Given the description of an element on the screen output the (x, y) to click on. 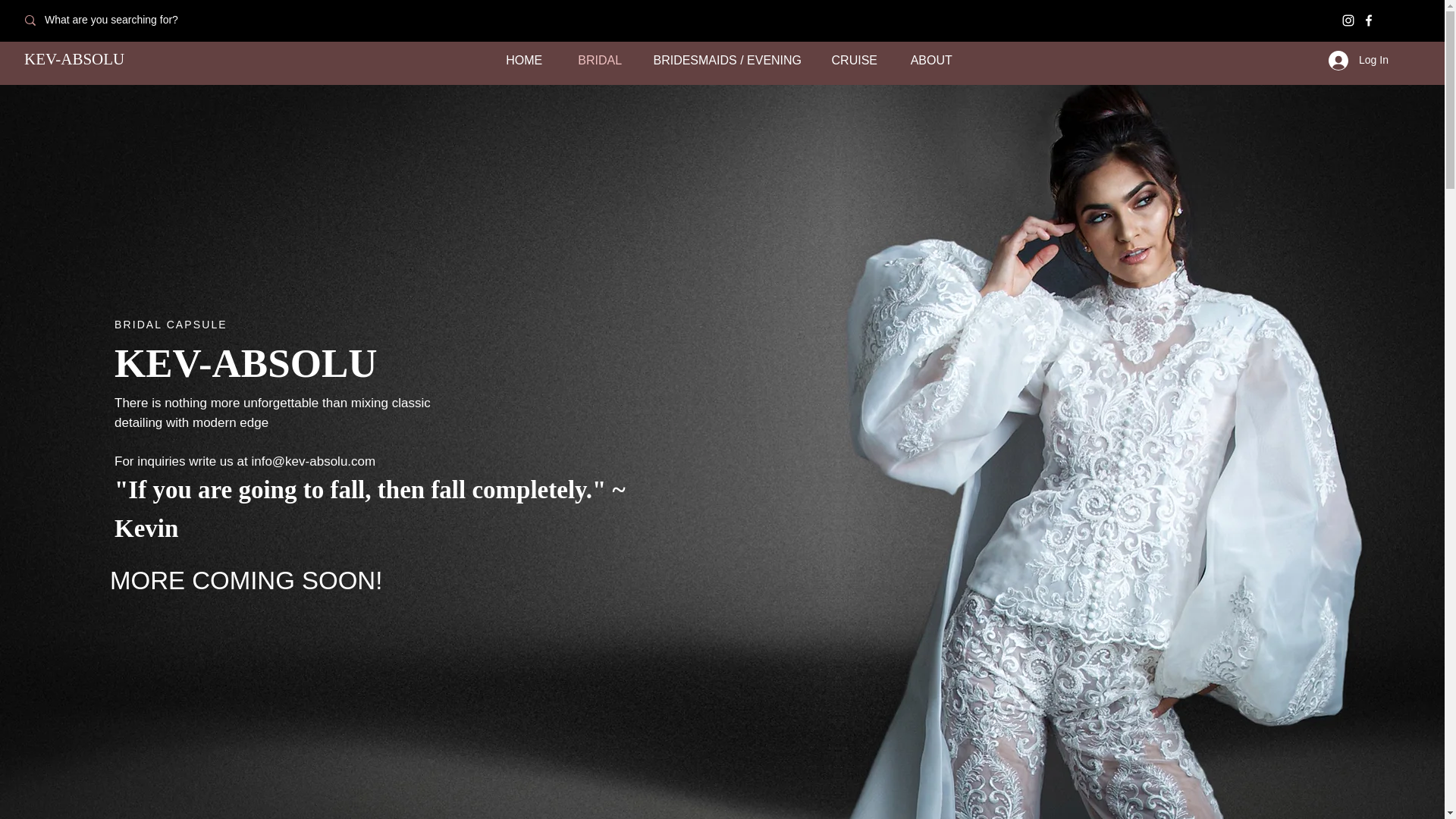
Log In (1357, 60)
ABOUT (931, 60)
HOME (523, 60)
CRUISE (854, 60)
BRIDAL (599, 60)
